Given the description of an element on the screen output the (x, y) to click on. 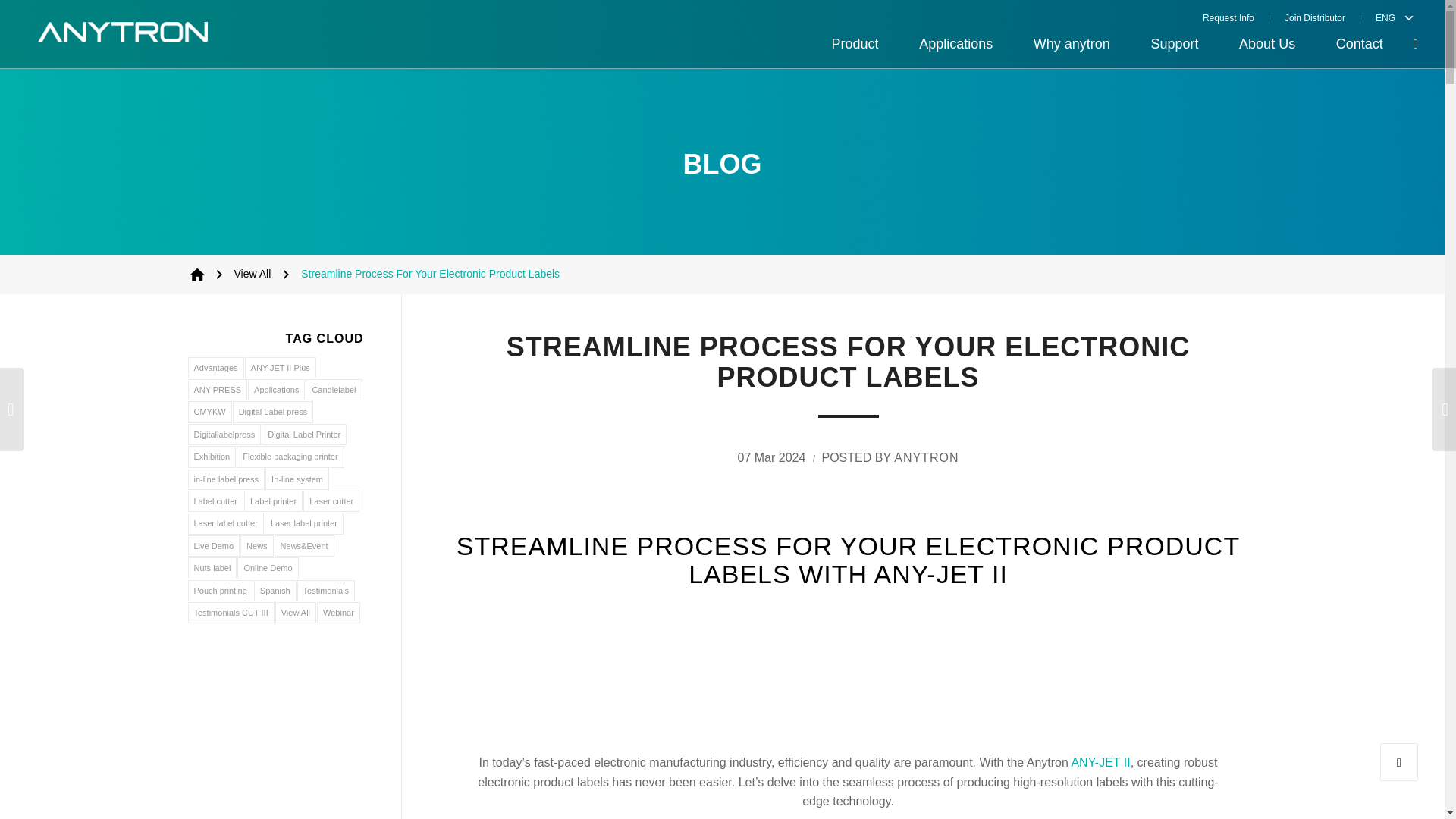
Request Info (1235, 17)
Scroll to top (1399, 761)
Applications (955, 44)
Join Distributor (1314, 17)
ENG (1381, 17)
Product (855, 44)
Anytron - Digital Print Pro (196, 274)
